Given the description of an element on the screen output the (x, y) to click on. 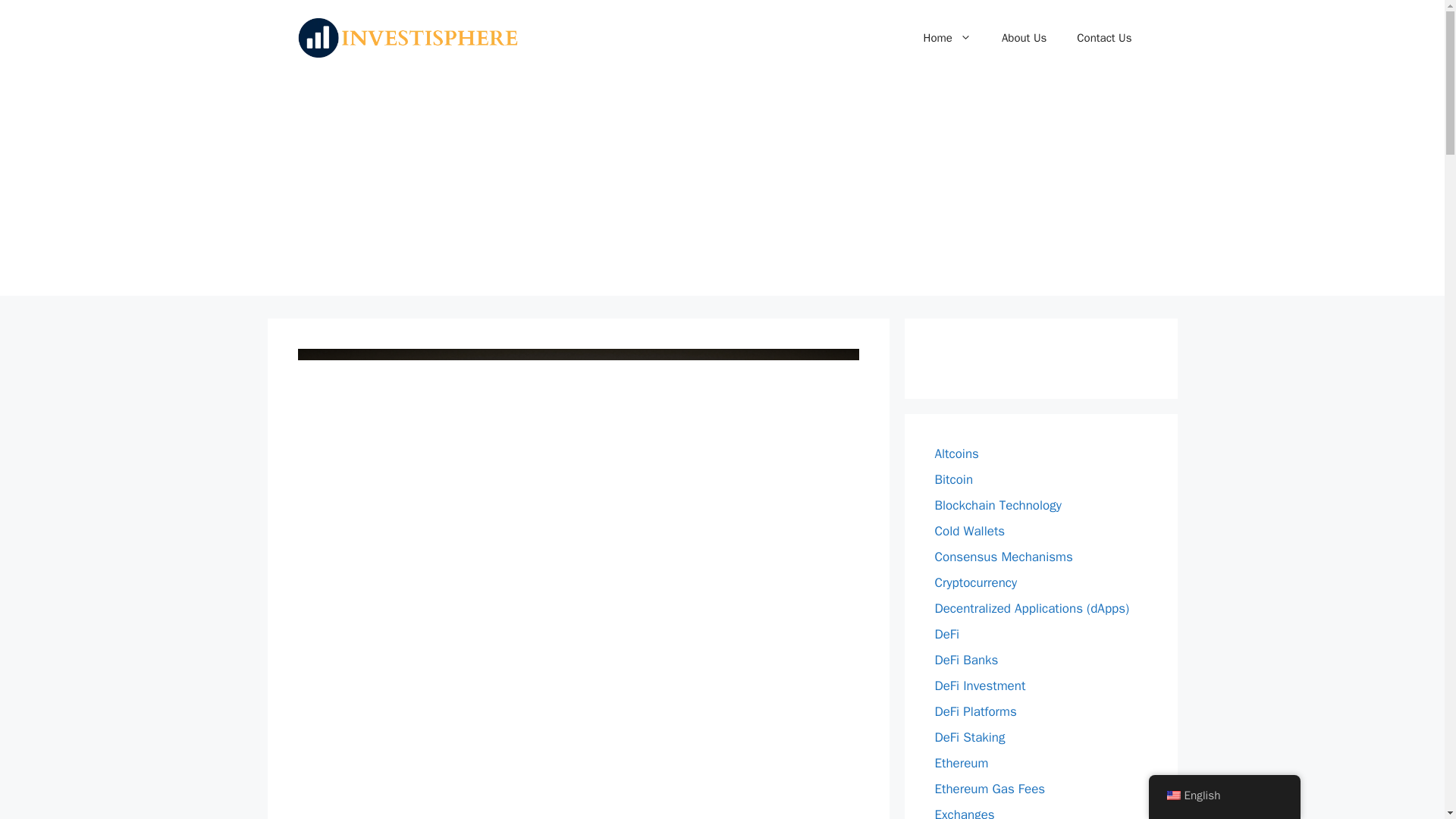
Contact Us (1104, 37)
English (1172, 795)
About Us (1024, 37)
Home (947, 37)
